Given the description of an element on the screen output the (x, y) to click on. 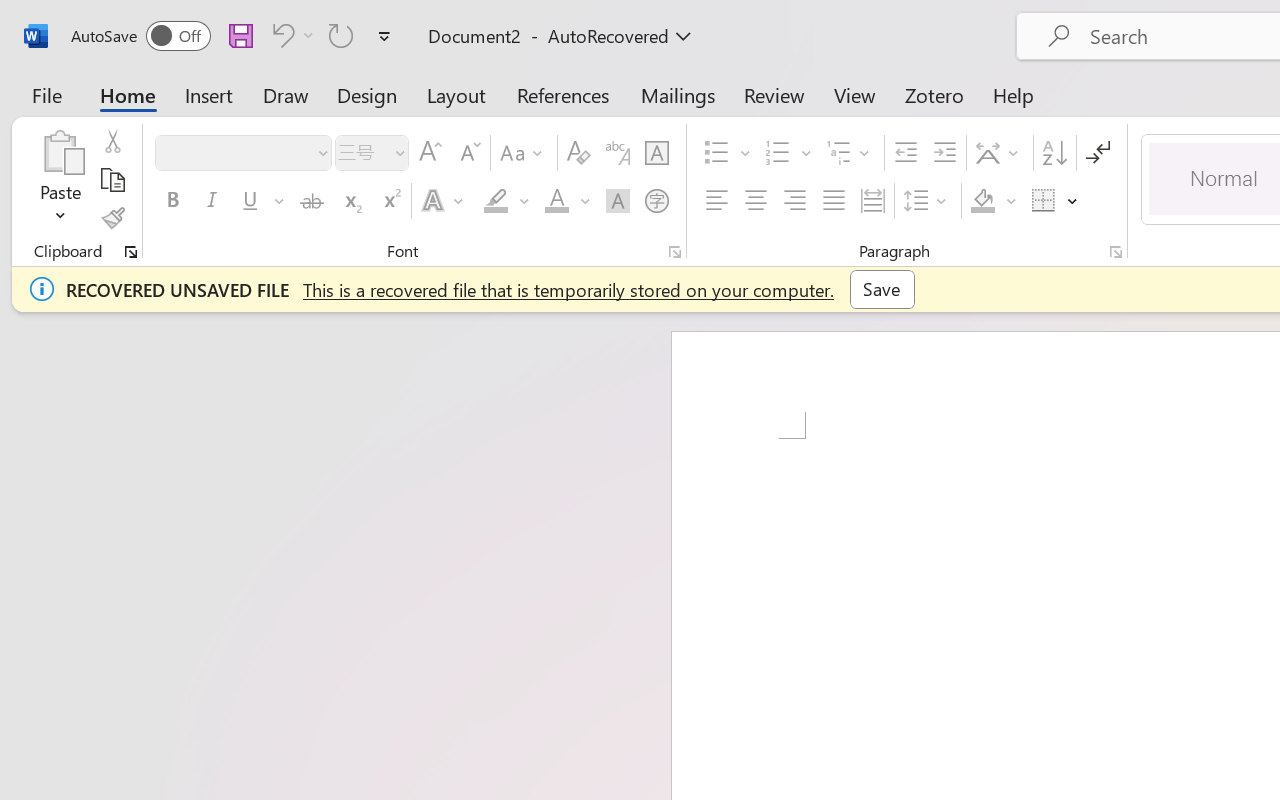
Show/Hide Editing Marks (1098, 153)
Enclose Characters... (656, 201)
Can't Undo (290, 35)
Increase Indent (944, 153)
Justify (834, 201)
Decrease Indent (906, 153)
Text Effects and Typography (444, 201)
Text Highlight Color (506, 201)
